Given the description of an element on the screen output the (x, y) to click on. 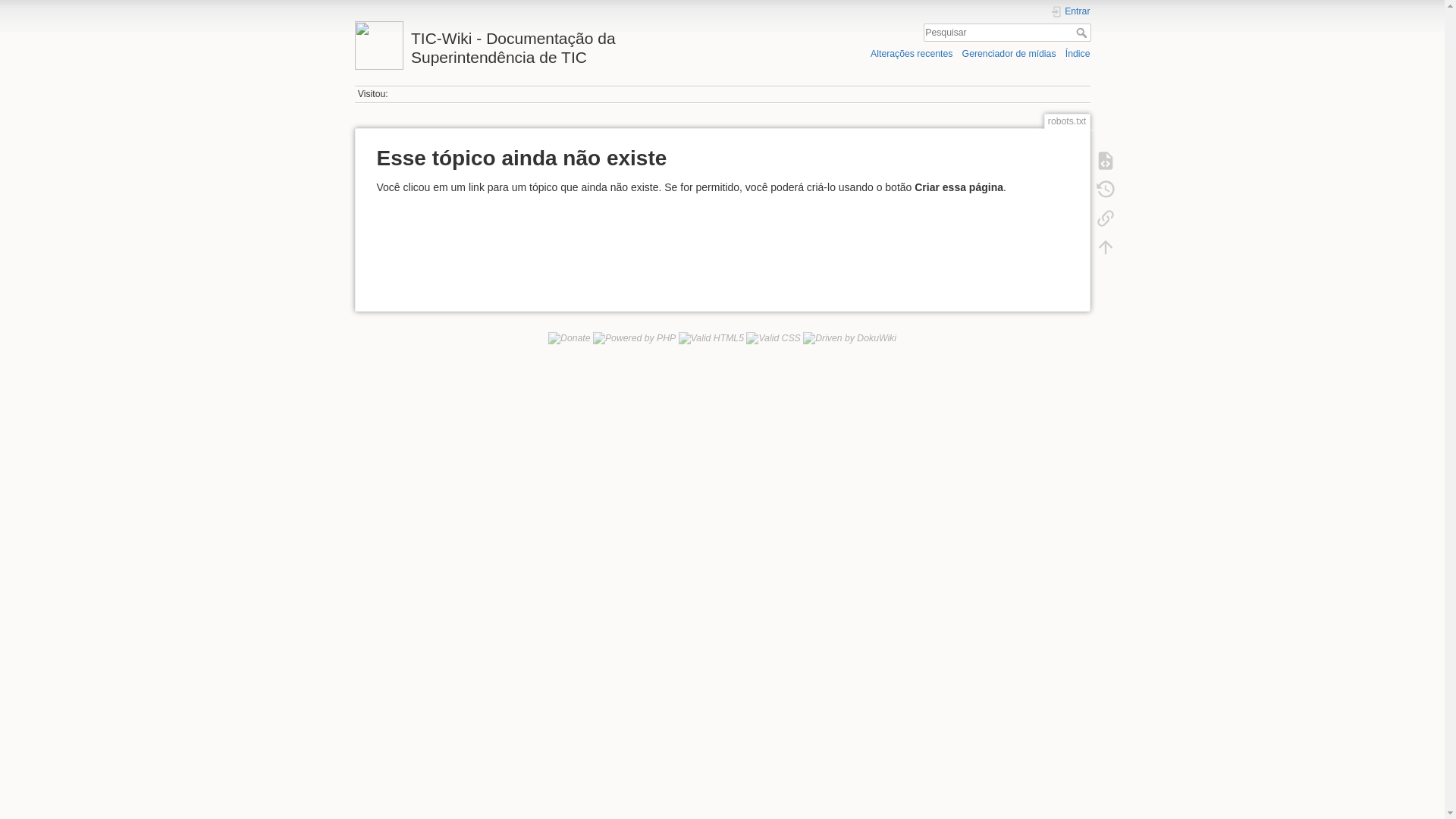
Driven by DokuWiki Element type: hover (849, 337)
Valid HTML5 Element type: hover (710, 337)
Pesquisar Element type: text (1082, 32)
Valid CSS Element type: hover (773, 337)
Links reversos Element type: hover (1104, 217)
[F] Element type: hover (1007, 32)
Entrar Element type: text (1070, 11)
Voltar ao topo [t] Element type: hover (1104, 246)
Donate Element type: hover (569, 337)
Powered by PHP Element type: hover (634, 337)
